Given the description of an element on the screen output the (x, y) to click on. 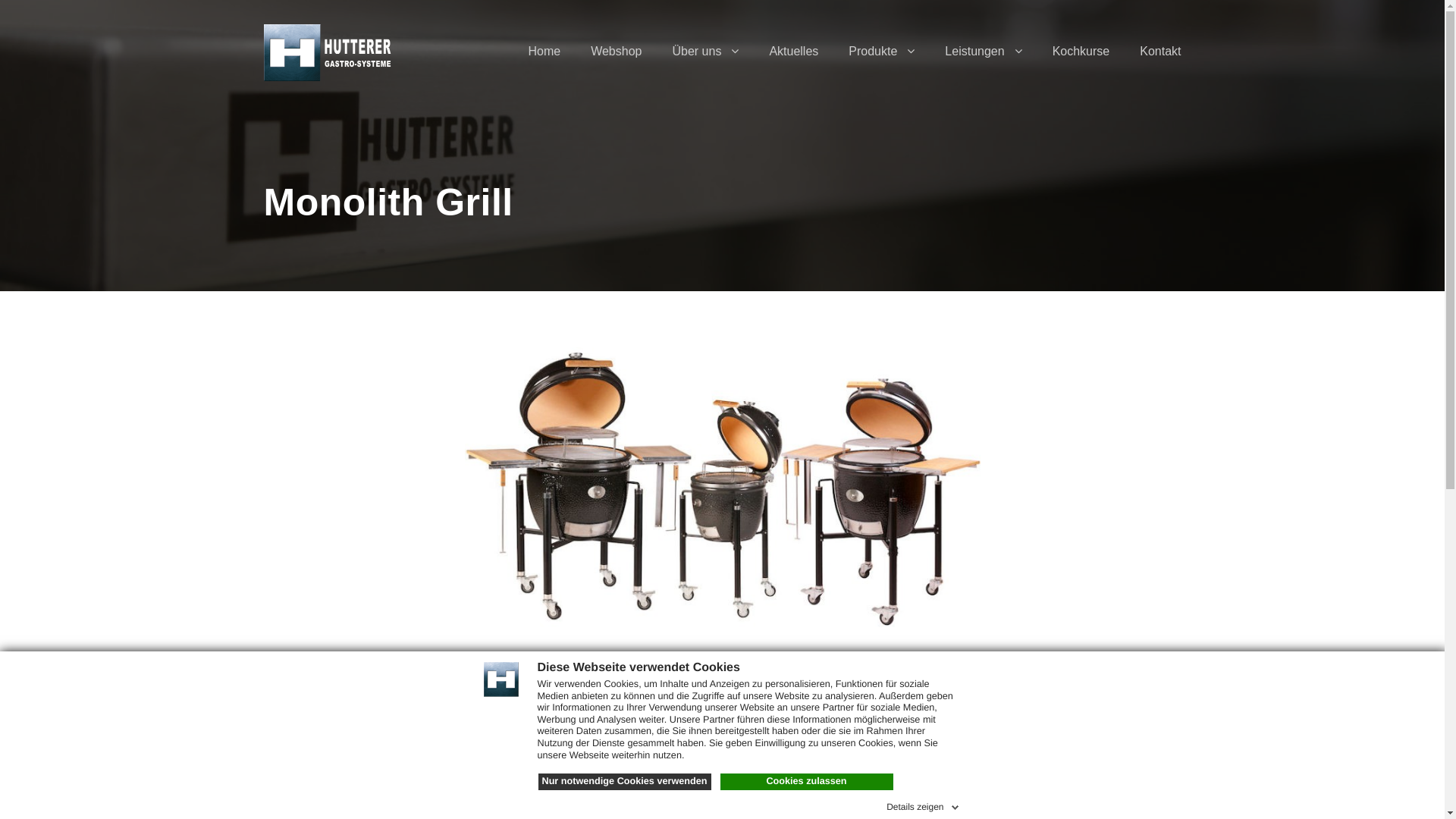
Aktuelles Element type: text (793, 63)
Webshop Element type: text (615, 63)
instagram Element type: hover (927, 683)
Produkte Element type: text (881, 63)
facebook Element type: hover (906, 683)
Home Element type: text (543, 63)
Details zeigen Element type: text (923, 804)
Cookies zulassen Element type: text (806, 781)
+43 1 478 43 73 Element type: text (652, 631)
Nur notwendige Cookies verwenden Element type: text (624, 781)
Leistungen Element type: text (982, 63)
office@hutterer.cc Element type: text (660, 666)
IMPRESSUM Element type: text (647, 784)
Kochkurse Element type: text (1081, 63)
Kontakt Element type: text (1159, 63)
AGB Element type: text (822, 784)
DATENSCHUTZ Element type: text (747, 784)
